Given the description of an element on the screen output the (x, y) to click on. 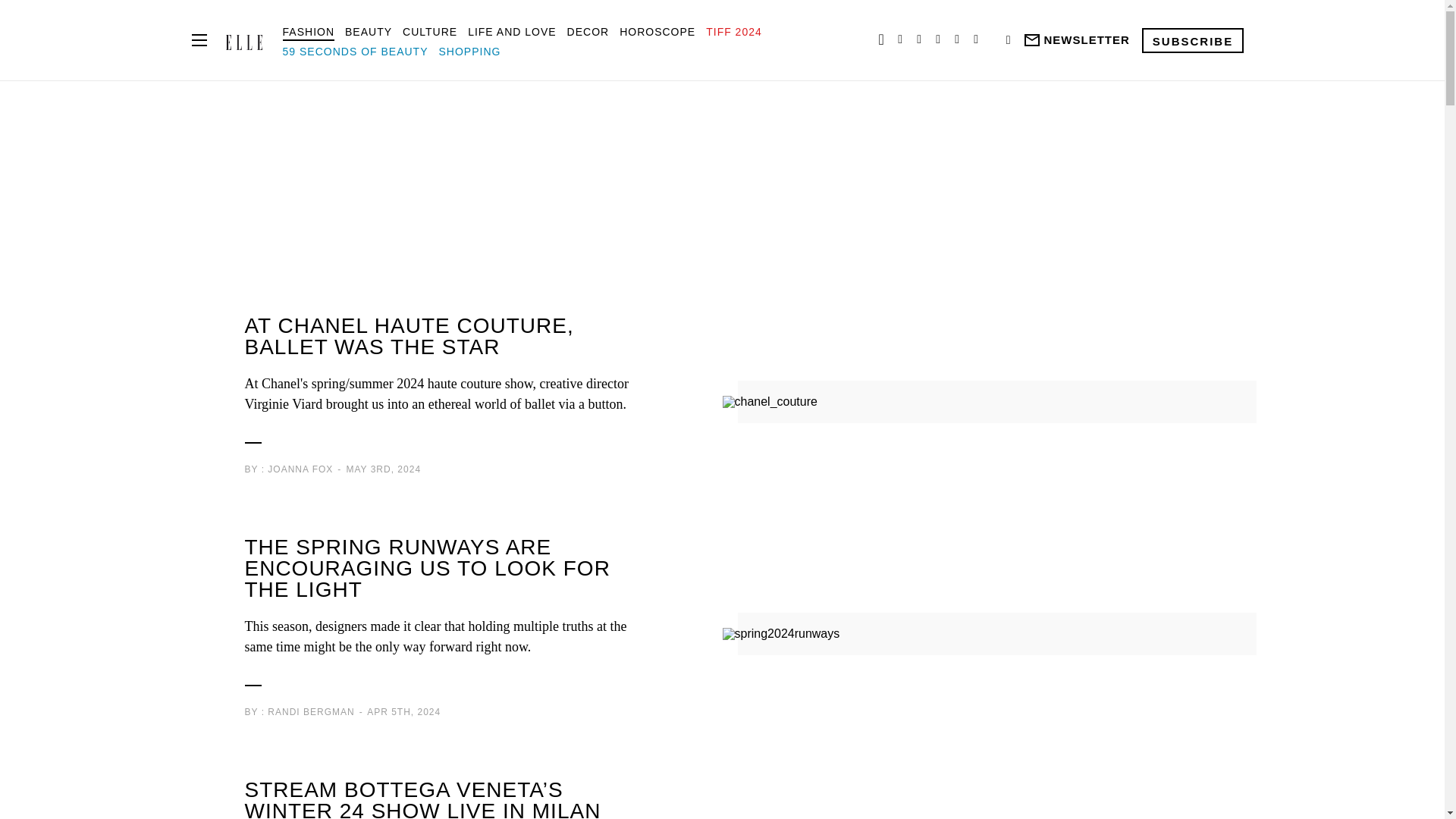
DECOR (588, 31)
BEAUTY (368, 31)
59 SECONDS OF BEAUTY (355, 51)
NEWSLETTER (1075, 40)
HOROSCOPE (657, 31)
SUBSCRIBE (1192, 39)
SHOPPING (469, 51)
LIFE AND LOVE (511, 31)
FASHION (308, 31)
TIFF 2024 (733, 31)
